Given the description of an element on the screen output the (x, y) to click on. 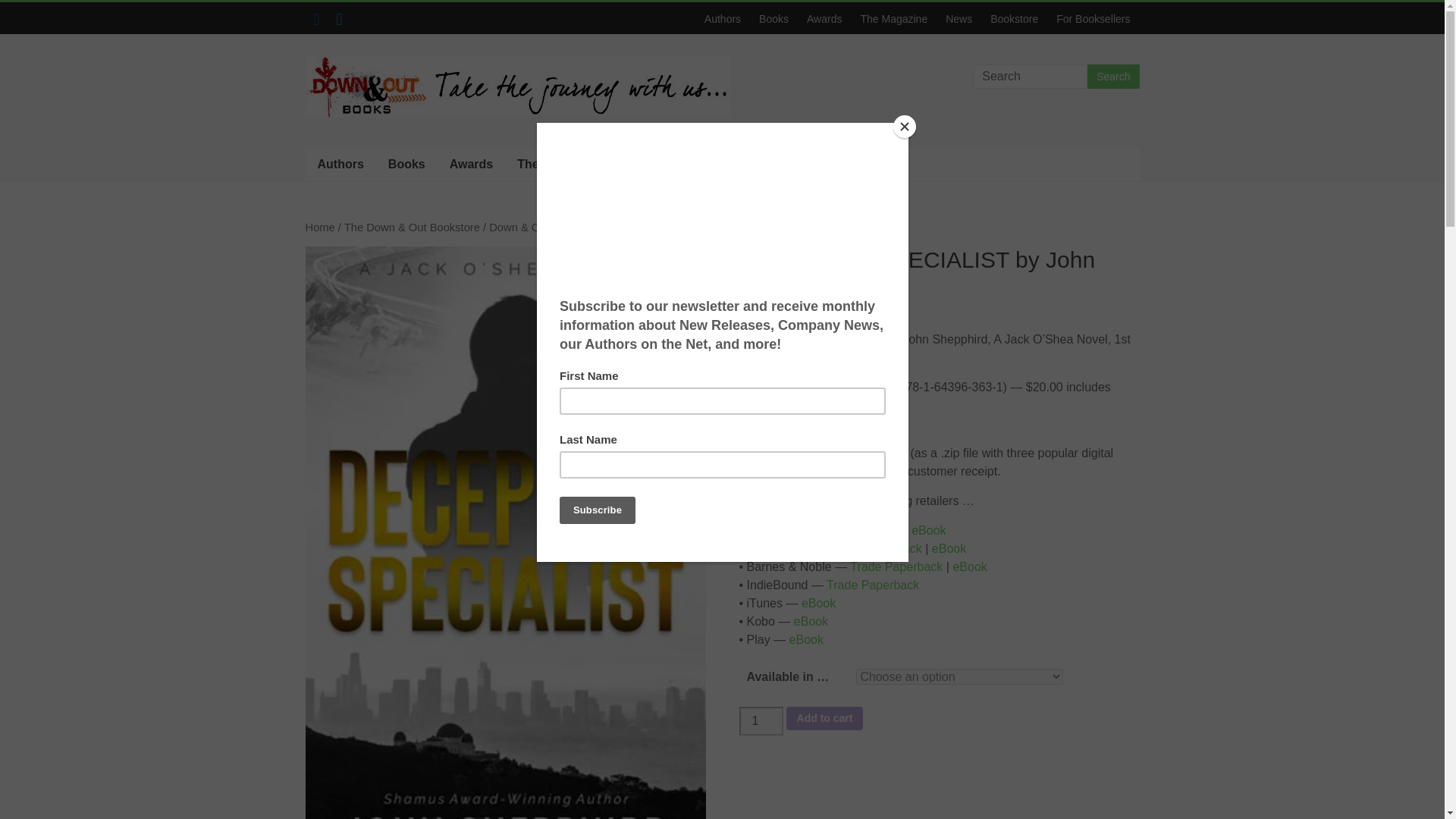
eBook (927, 530)
1 (760, 720)
Trade Paperback (855, 530)
The Magazine (893, 18)
Trade Paperback (896, 566)
News (636, 164)
eBook (948, 548)
Awards (823, 18)
PayPal (938, 798)
Bookstore (707, 164)
Search (1112, 76)
For Booksellers (806, 164)
Search (1112, 76)
News (958, 18)
Books (773, 18)
